Given the description of an element on the screen output the (x, y) to click on. 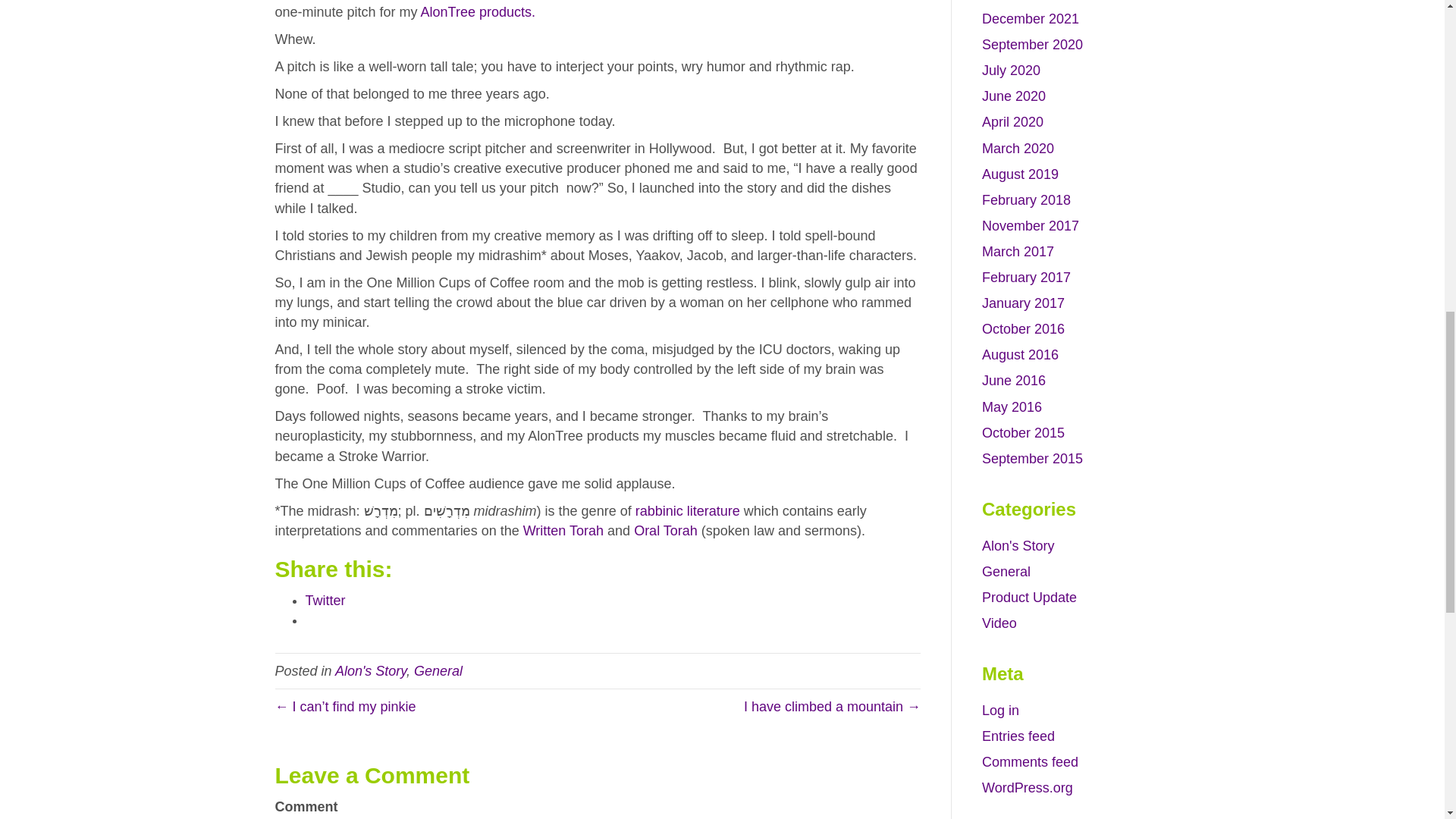
Oral Torah (665, 530)
Click to share on Twitter (324, 600)
rabbinic literature (686, 510)
Alon's Story (370, 670)
General (438, 670)
AlonTree products. (477, 11)
Twitter (324, 600)
Written Torah (563, 530)
